Given the description of an element on the screen output the (x, y) to click on. 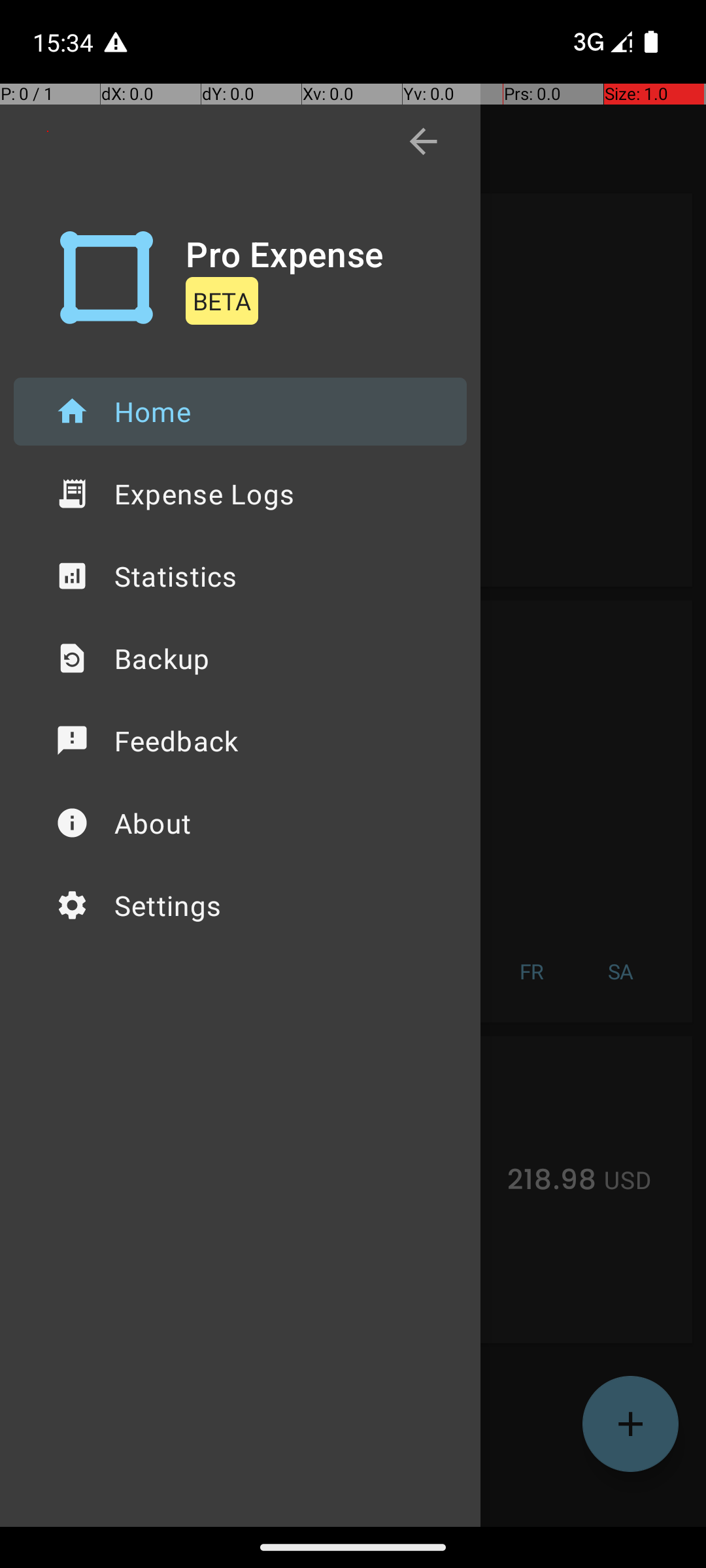
Pro Expense Element type: android.widget.TextView (284, 253)
BETA Element type: android.widget.TextView (221, 300)
Expense Logs Element type: android.widget.CheckedTextView (239, 493)
Statistics Element type: android.widget.CheckedTextView (239, 576)
Backup Element type: android.widget.CheckedTextView (239, 658)
Feedback Element type: android.widget.CheckedTextView (239, 740)
About Element type: android.widget.CheckedTextView (239, 823)
